Given the description of an element on the screen output the (x, y) to click on. 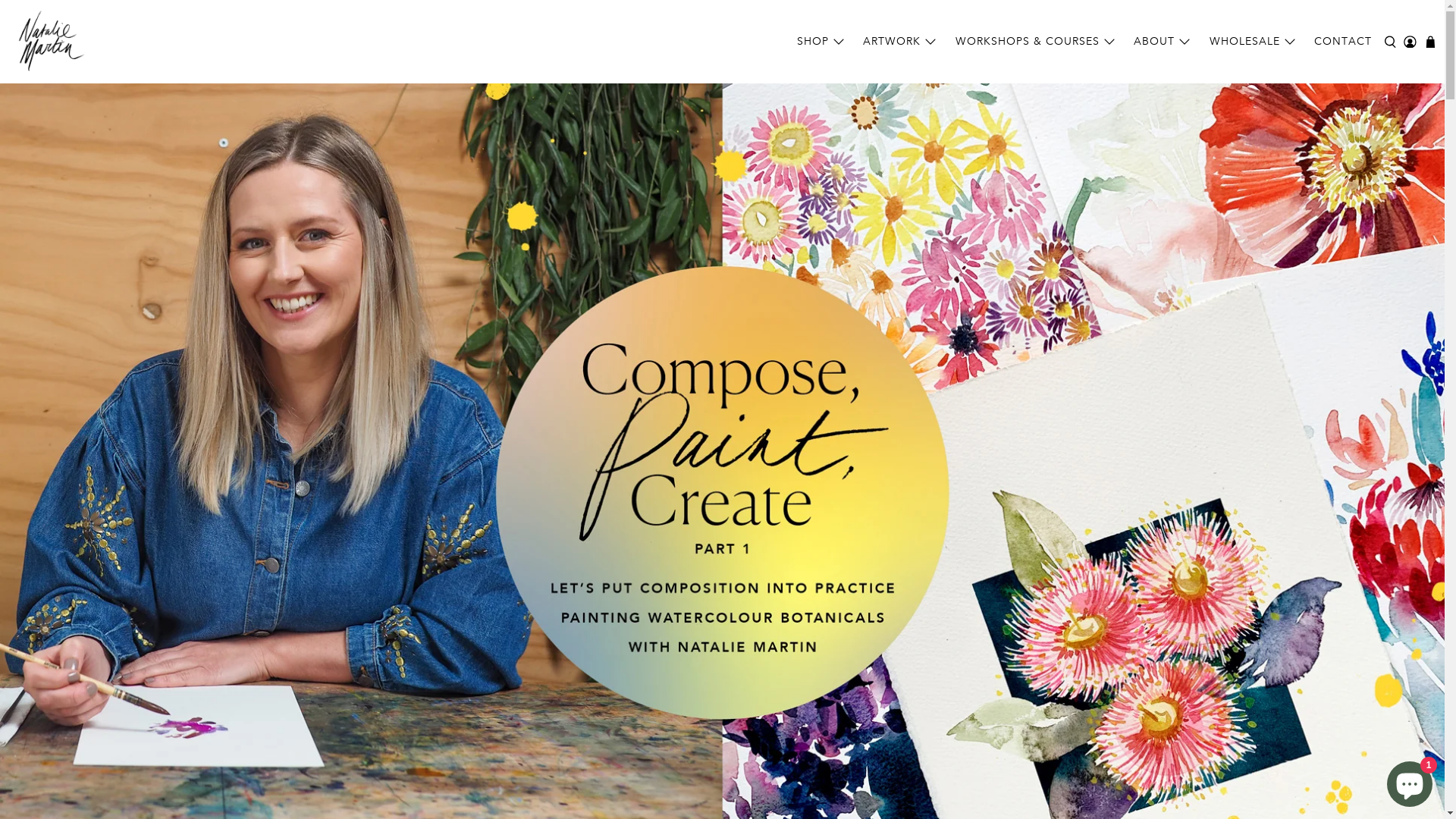
Shopify online store chat Element type: hover (1409, 780)
SHOP Element type: text (821, 40)
WORKSHOPS & COURSES Element type: text (1036, 40)
WHOLESALE Element type: text (1253, 40)
ARTWORK Element type: text (901, 40)
ABOUT Element type: text (1163, 40)
Natalie Martin Element type: hover (49, 41)
CONTACT Element type: text (1343, 40)
